Given the description of an element on the screen output the (x, y) to click on. 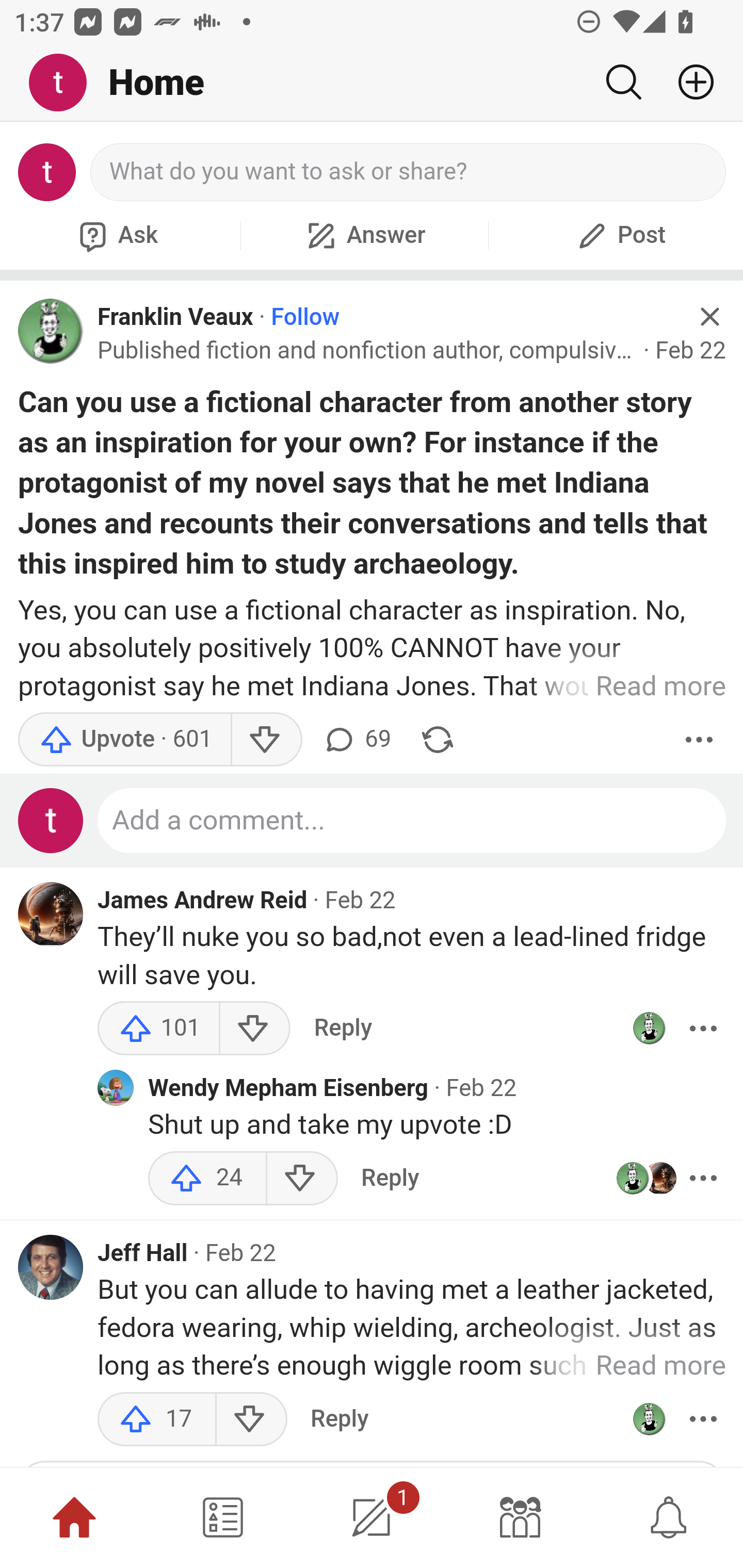
Me (64, 83)
Search (623, 82)
Add (688, 82)
What do you want to ask or share? (408, 172)
Ask (116, 234)
Answer (364, 234)
Post (618, 234)
Hide (709, 316)
Profile photo for Franklin Veaux (50, 330)
Franklin Veaux (175, 316)
Follow (306, 316)
Upvote (124, 739)
Downvote (266, 739)
69 comments (356, 739)
Share (437, 739)
More (699, 739)
Profile photo for Test Appium (50, 820)
Add a comment... (412, 820)
Profile photo for James Andrew Reid (50, 914)
James Andrew Reid (202, 899)
101 upvotes (158, 1028)
Downvote (253, 1028)
Reply (342, 1028)
Profile photo for Franklin Veaux (648, 1028)
More (703, 1028)
Profile photo for Wendy Mepham Eisenberg (115, 1088)
Wendy Mepham Eisenberg (288, 1087)
24 upvotes (207, 1177)
Downvote (302, 1177)
Reply (389, 1177)
More (703, 1177)
Profile photo for Jeff Hall (50, 1266)
Jeff Hall (143, 1253)
17 upvotes (156, 1418)
Downvote (250, 1418)
Reply (338, 1418)
Profile photo for Franklin Veaux (648, 1418)
More (703, 1418)
1 (371, 1517)
